Given the description of an element on the screen output the (x, y) to click on. 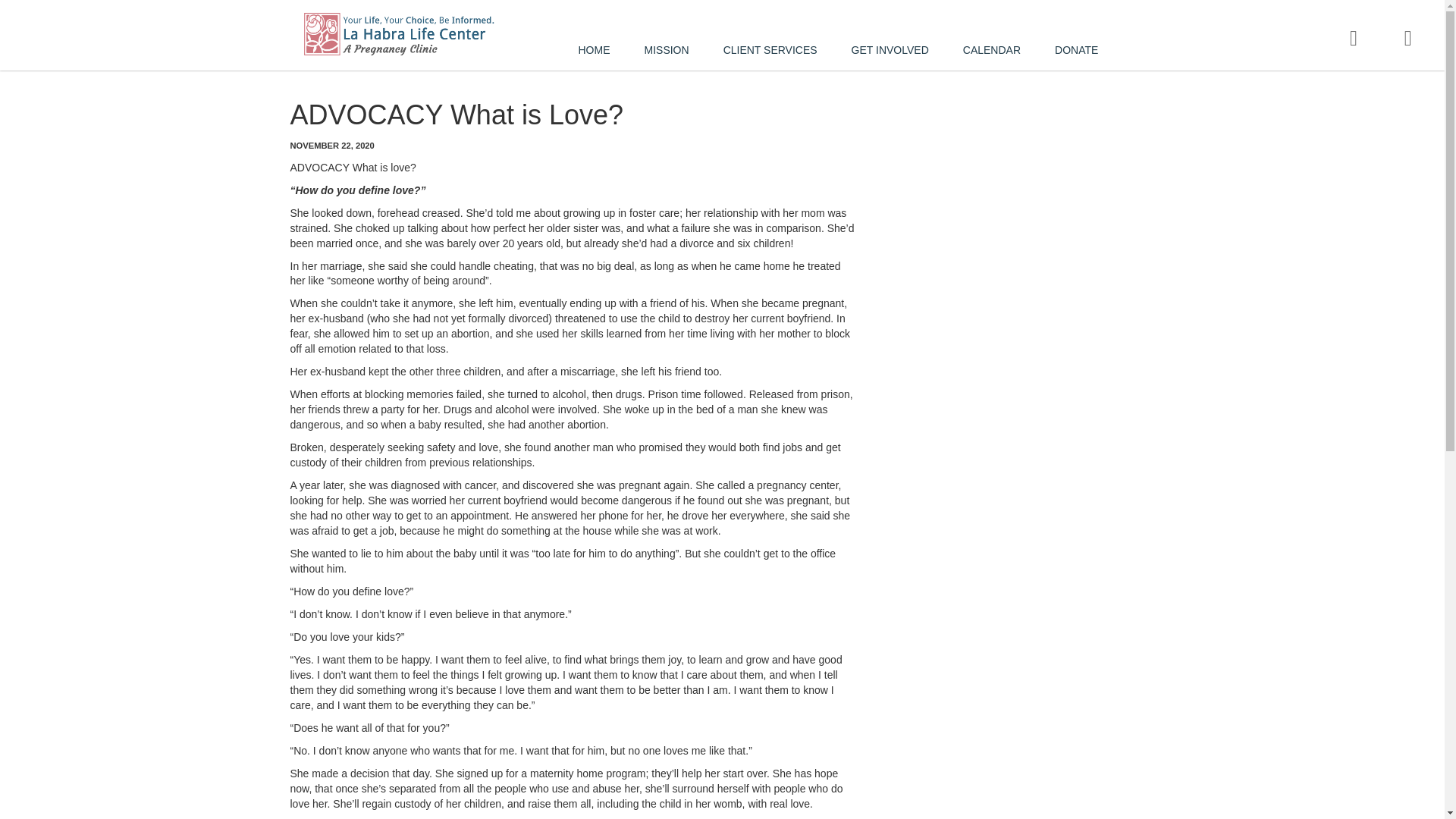
MISSION (671, 53)
Mecki Team (397, 44)
HOME (600, 53)
DONATE (1082, 53)
CLIENT SERVICES (775, 53)
CALENDAR (997, 53)
GET INVOLVED (896, 53)
